Given the description of an element on the screen output the (x, y) to click on. 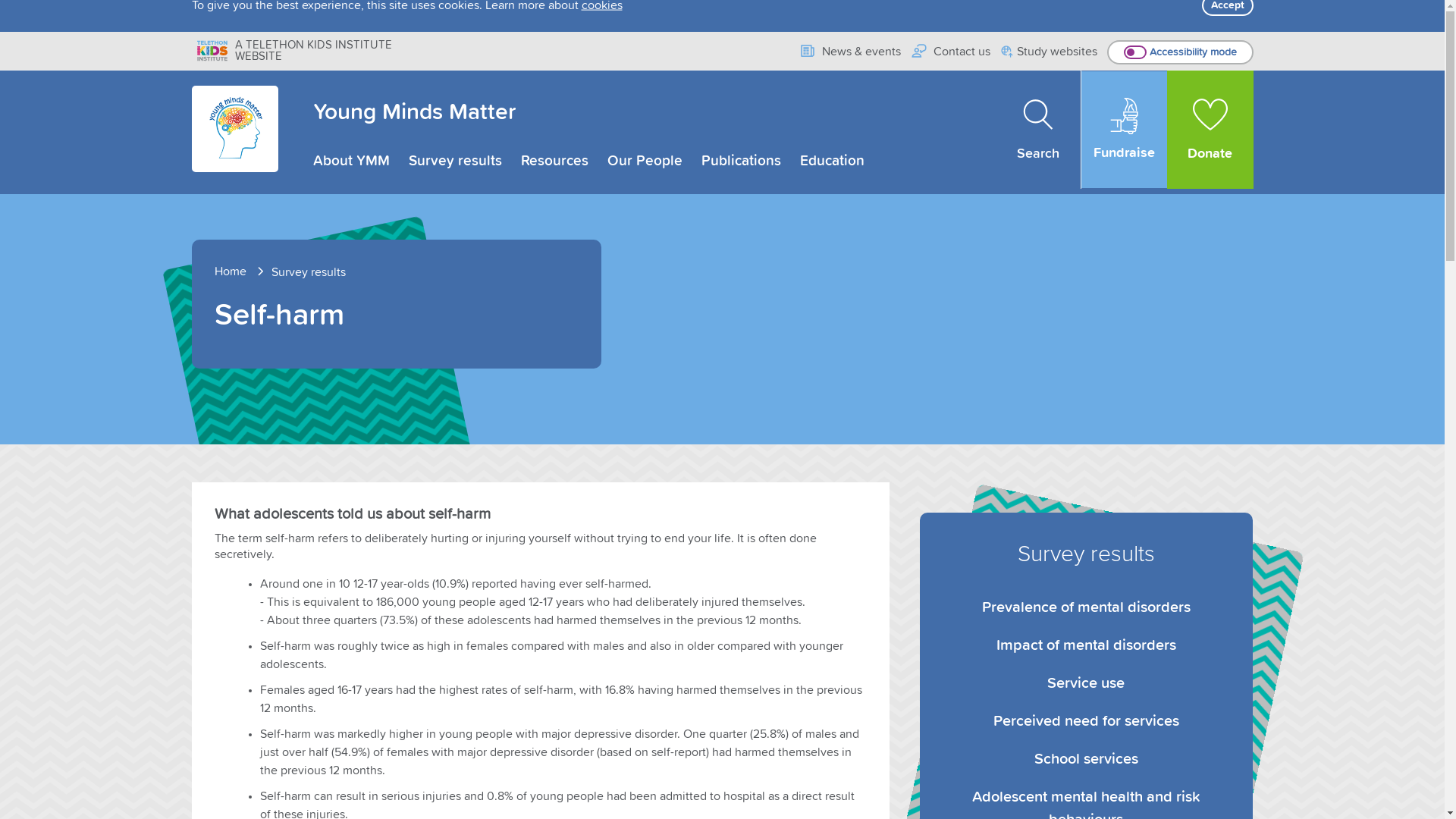
Survey results Element type: text (454, 160)
School services Element type: text (1085, 759)
About YMM Element type: text (350, 160)
Perceived need for services Element type: text (1085, 721)
Fundraise Element type: text (1124, 129)
Resources Element type: text (553, 160)
Young Minds Matter Element type: text (413, 111)
Service use Element type: text (1085, 683)
Donate Element type: text (1209, 129)
Search Element type: text (1038, 129)
Prevalence of mental disorders Element type: text (1085, 607)
Impact of mental disorders Element type: text (1085, 645)
Survey results Element type: text (308, 272)
Accessibility mode Element type: text (1180, 52)
News & events Element type: text (849, 51)
Study websites Element type: text (1049, 52)
Publications Element type: text (740, 160)
Our People Element type: text (643, 160)
Home Element type: text (240, 271)
Education Element type: text (831, 160)
tki-logo-final Element type: text (212, 49)
Contact us Element type: text (950, 51)
